Given the description of an element on the screen output the (x, y) to click on. 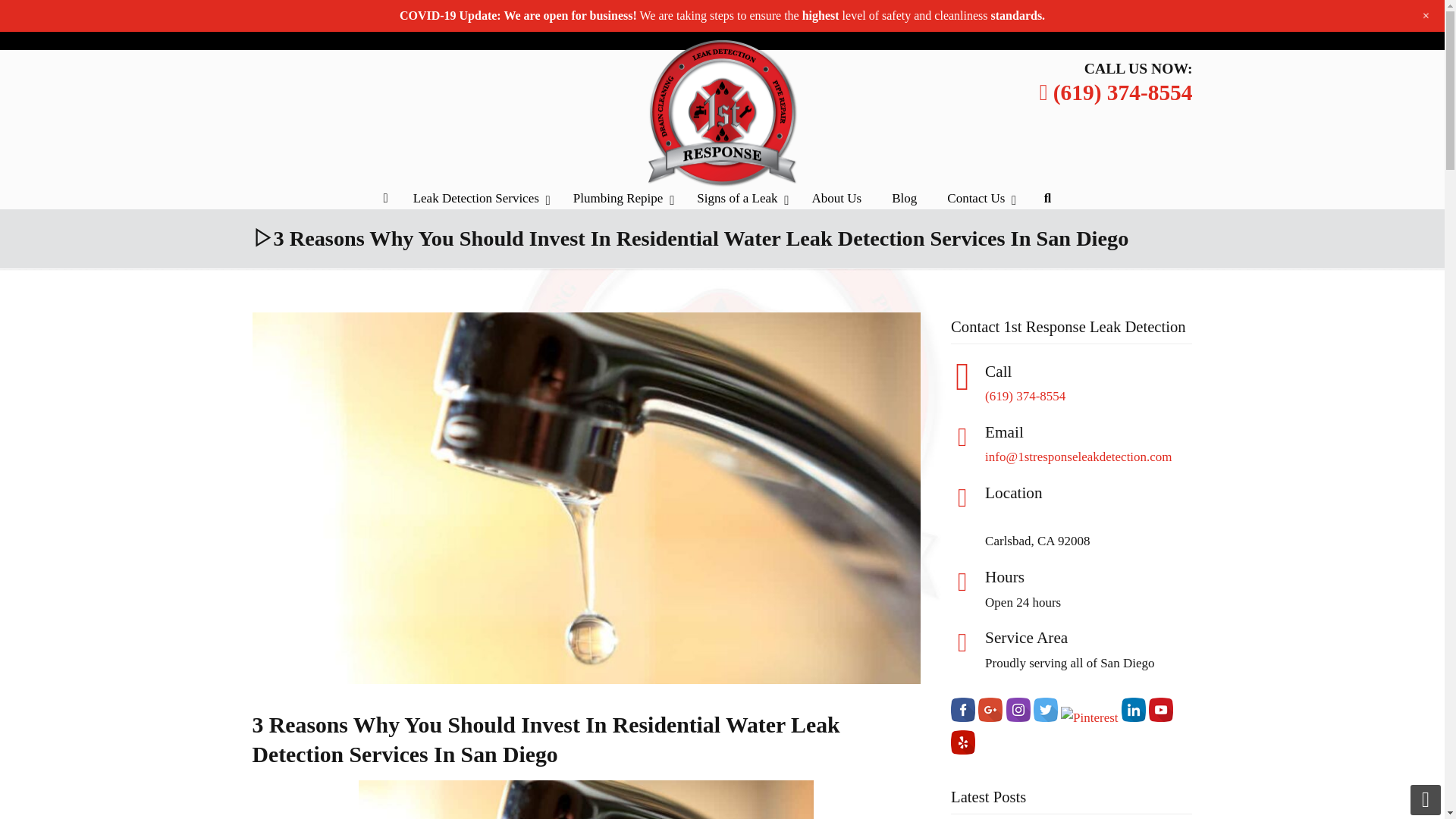
Twitter (1069, 25)
Pinterest (1111, 25)
FAQs (822, 16)
YouTube (1153, 16)
Instagram (1041, 25)
YouTube (1153, 25)
Leak Detection Services (477, 198)
Instagram (1041, 16)
Google Pages (1015, 25)
Yelp (1179, 25)
